Given the description of an element on the screen output the (x, y) to click on. 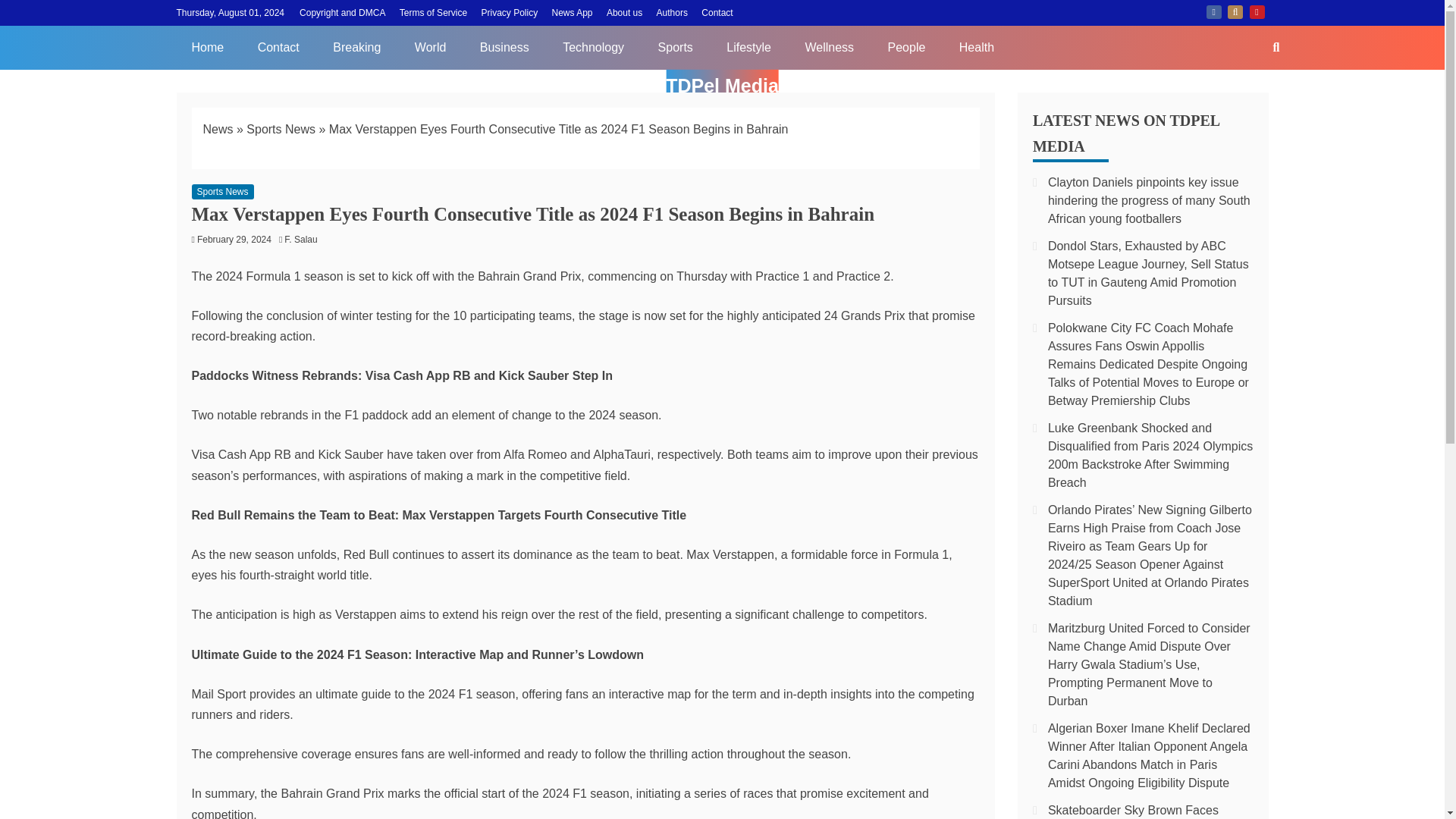
Copyright and DMCA (342, 12)
Sports News (280, 128)
Business (504, 46)
Home (207, 46)
Pinterest (1257, 11)
Facebook (1214, 11)
Authors (671, 12)
Contact (716, 12)
People (906, 46)
F. Salau (303, 239)
Technology (593, 46)
Sports (675, 46)
News App (571, 12)
Twitter (1235, 11)
Sports News (221, 191)
